Given the description of an element on the screen output the (x, y) to click on. 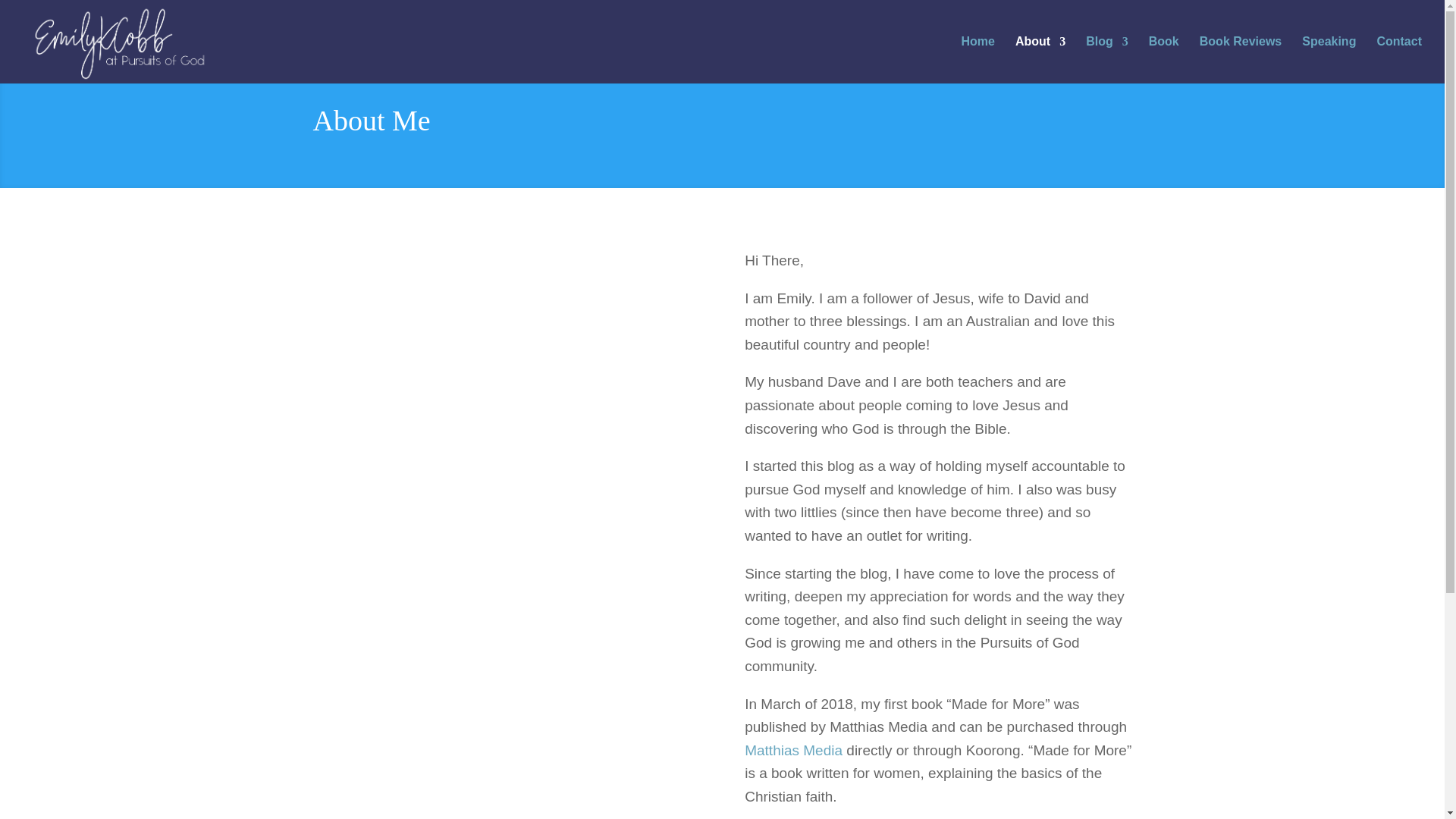
Contact (1398, 59)
About (1039, 59)
Book Reviews (1240, 59)
Speaking (1328, 59)
Matthias Media (793, 750)
Blog (1107, 59)
